Given the description of an element on the screen output the (x, y) to click on. 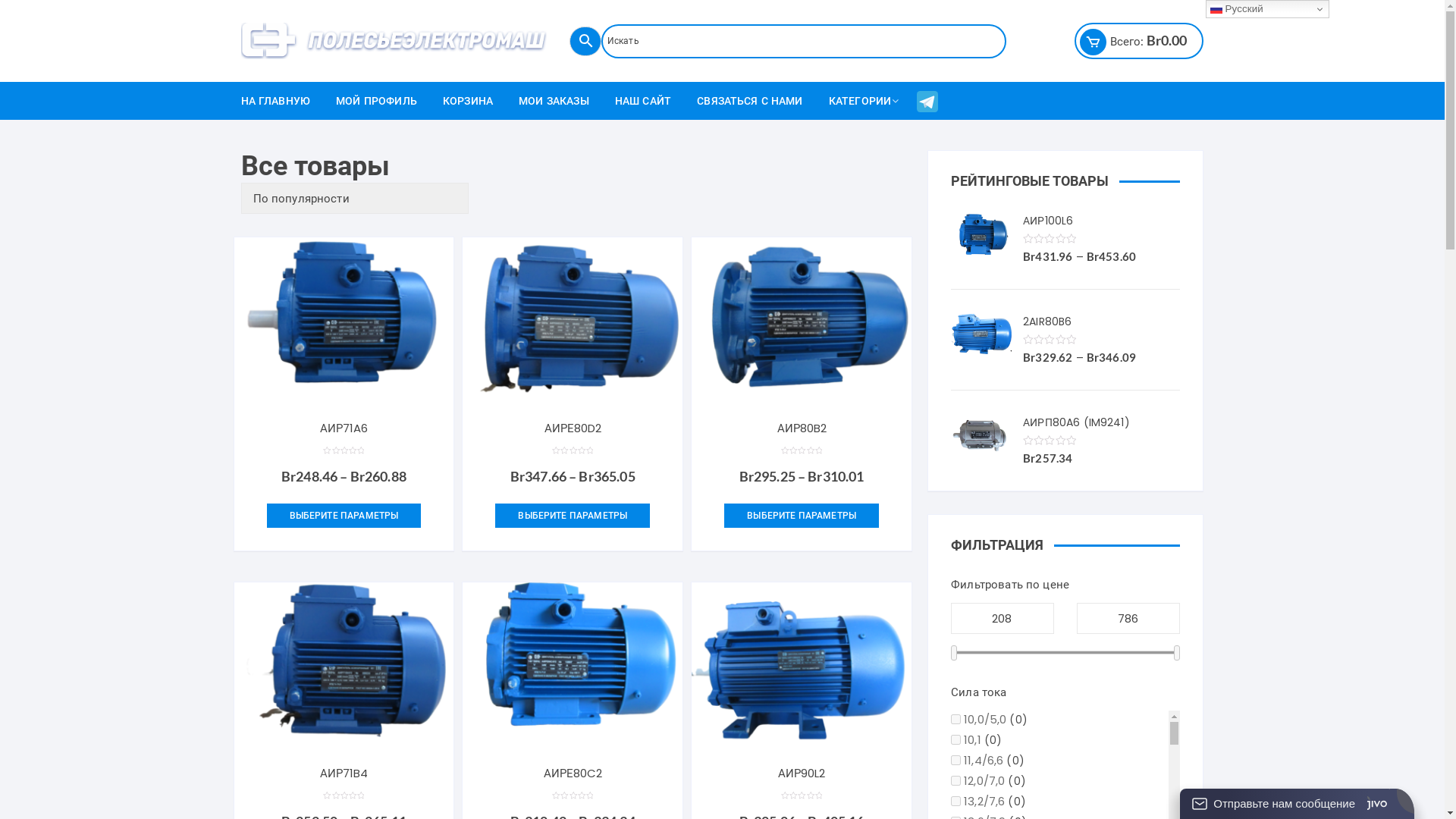
2AIR80B6 Element type: text (1064, 321)
